Given the description of an element on the screen output the (x, y) to click on. 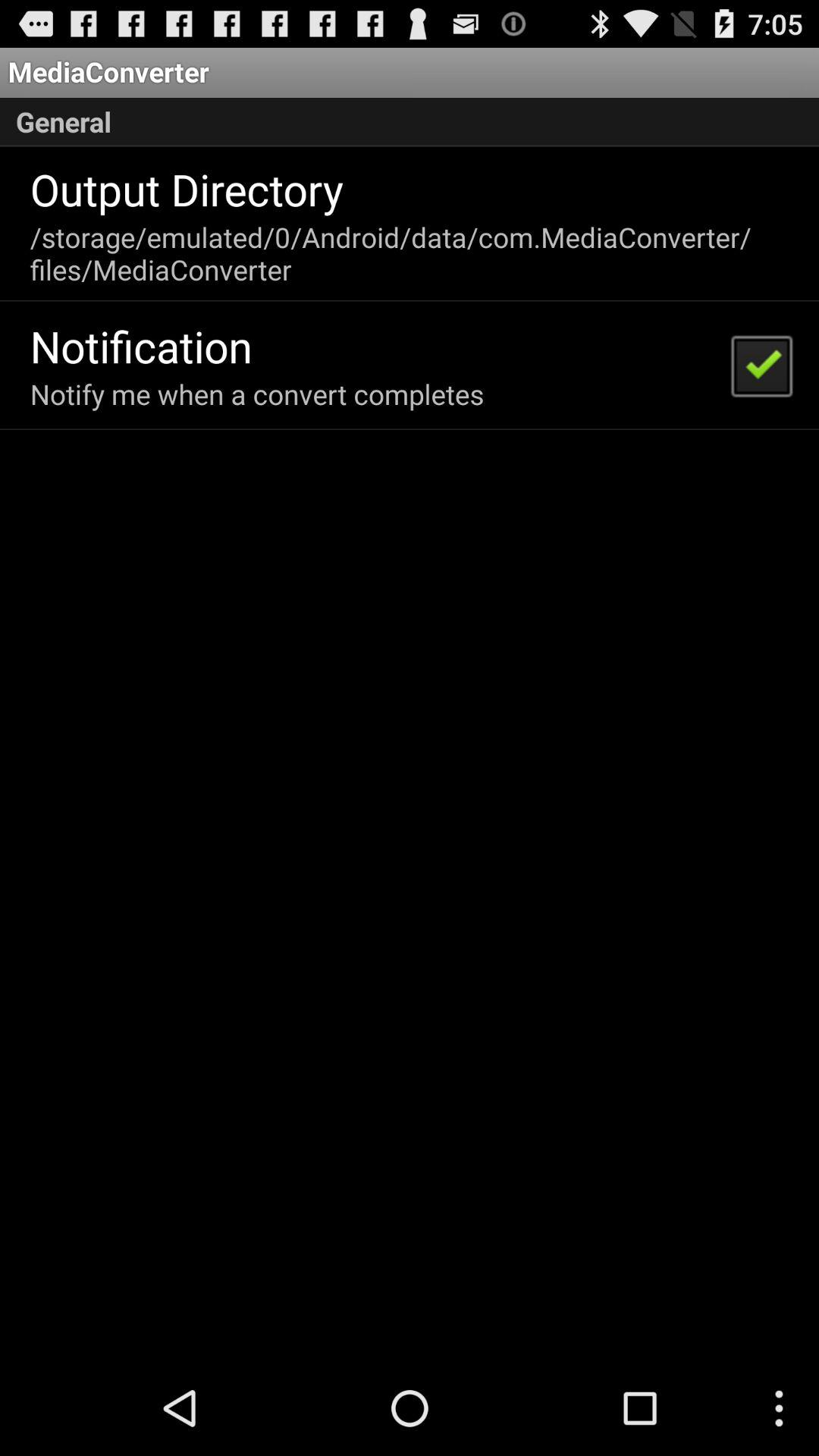
jump to notify me when icon (257, 393)
